Given the description of an element on the screen output the (x, y) to click on. 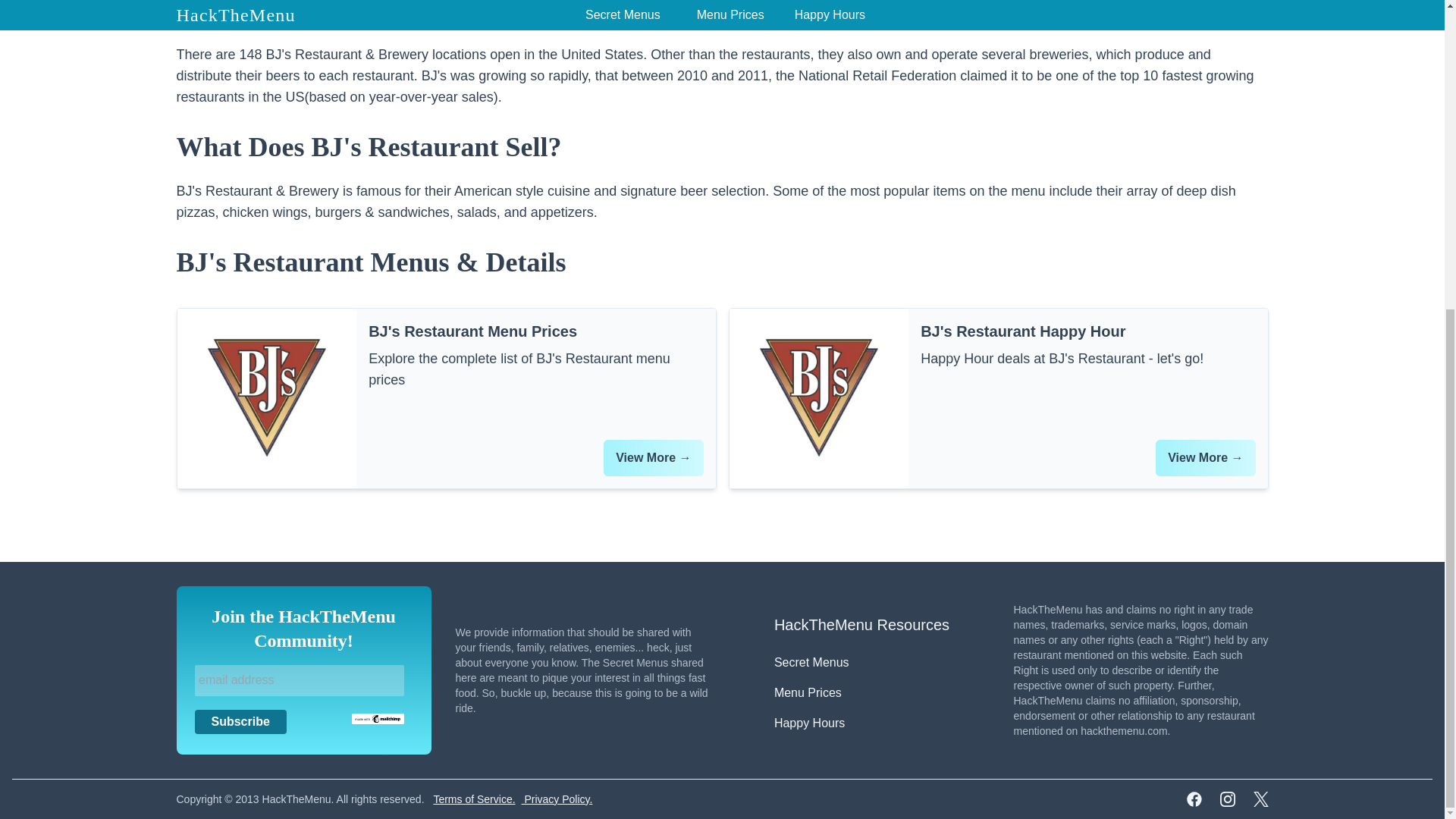
Subscribe (239, 721)
Where Can I Find BJ's Restaurant Locations? (722, 12)
Mailchimp - email marketing made easy and fun (378, 718)
What Does BJ's Restaurant Sell? (722, 146)
